Given the description of an element on the screen output the (x, y) to click on. 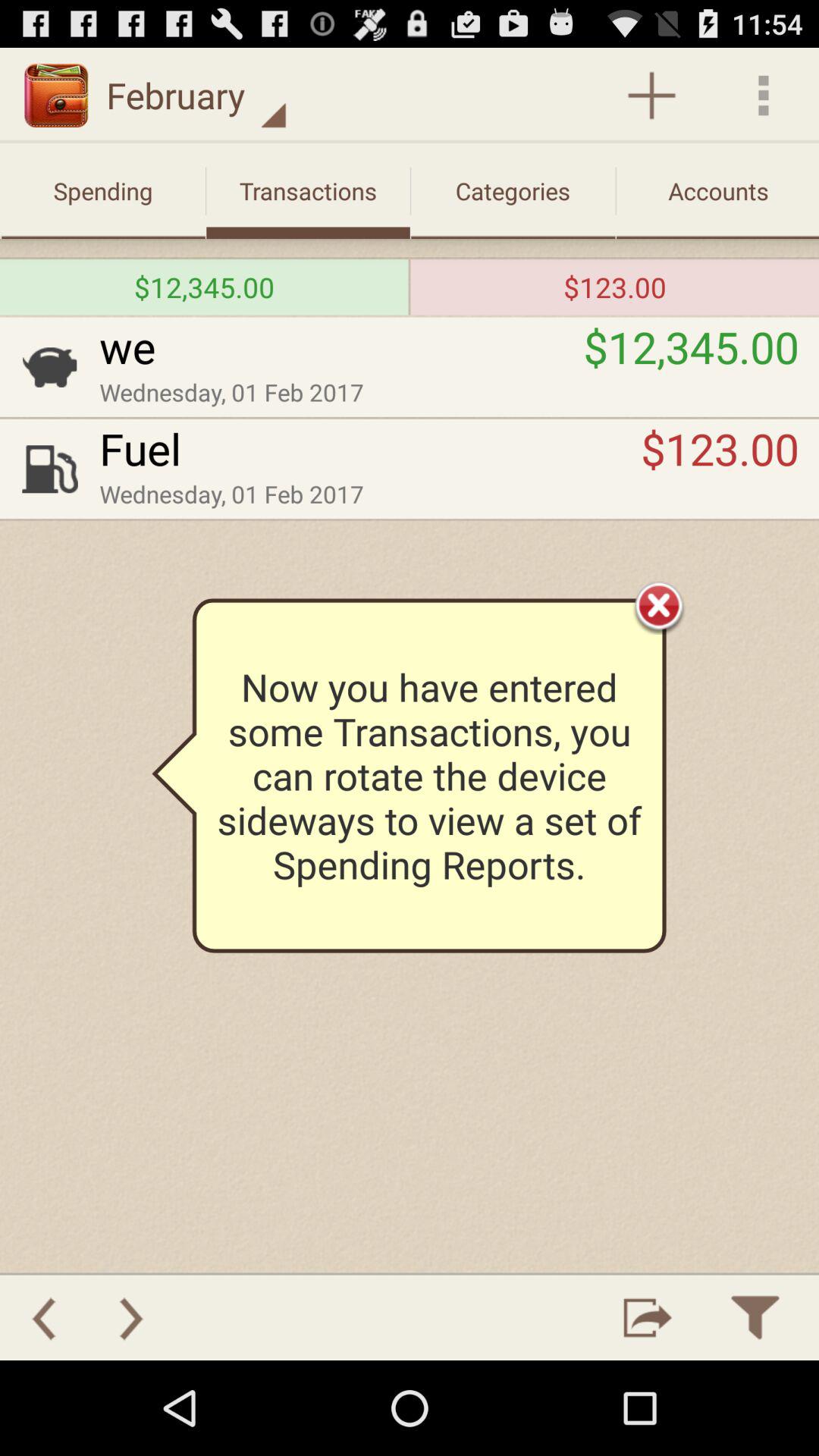
close window (659, 605)
